Given the description of an element on the screen output the (x, y) to click on. 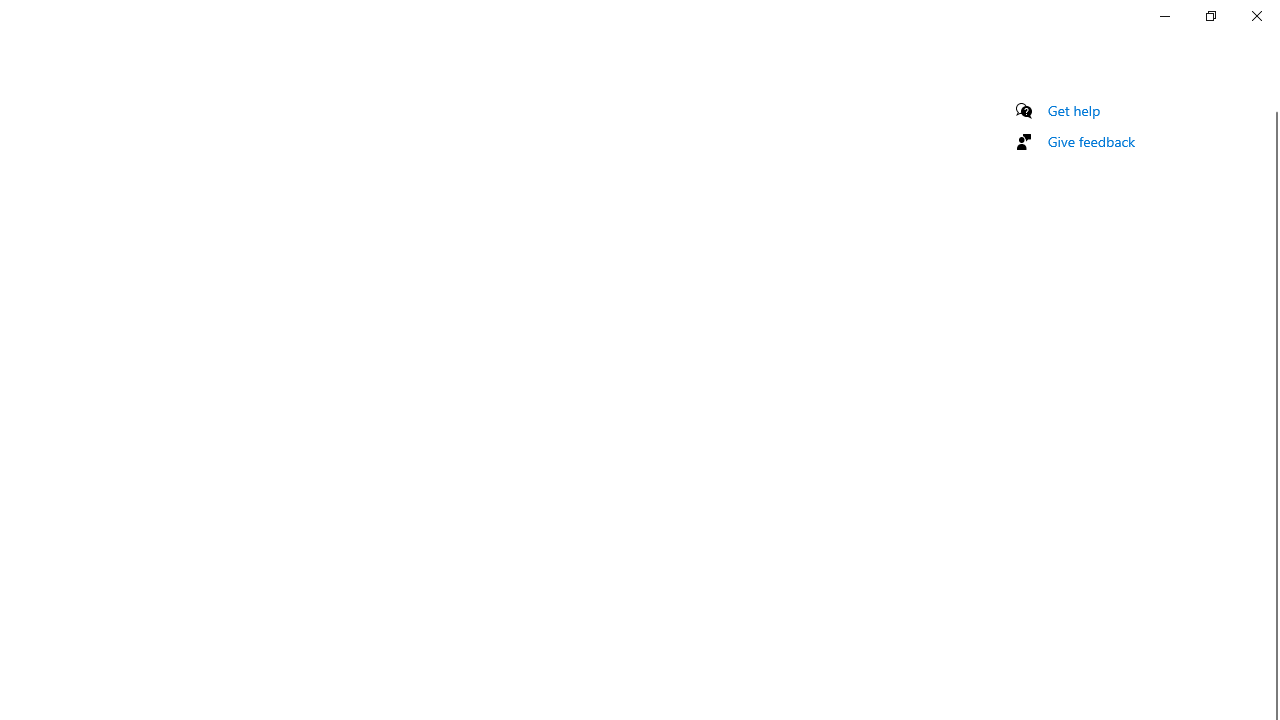
Give feedback (1091, 141)
Get help (1074, 110)
Vertical Small Decrease (1272, 103)
